Given the description of an element on the screen output the (x, y) to click on. 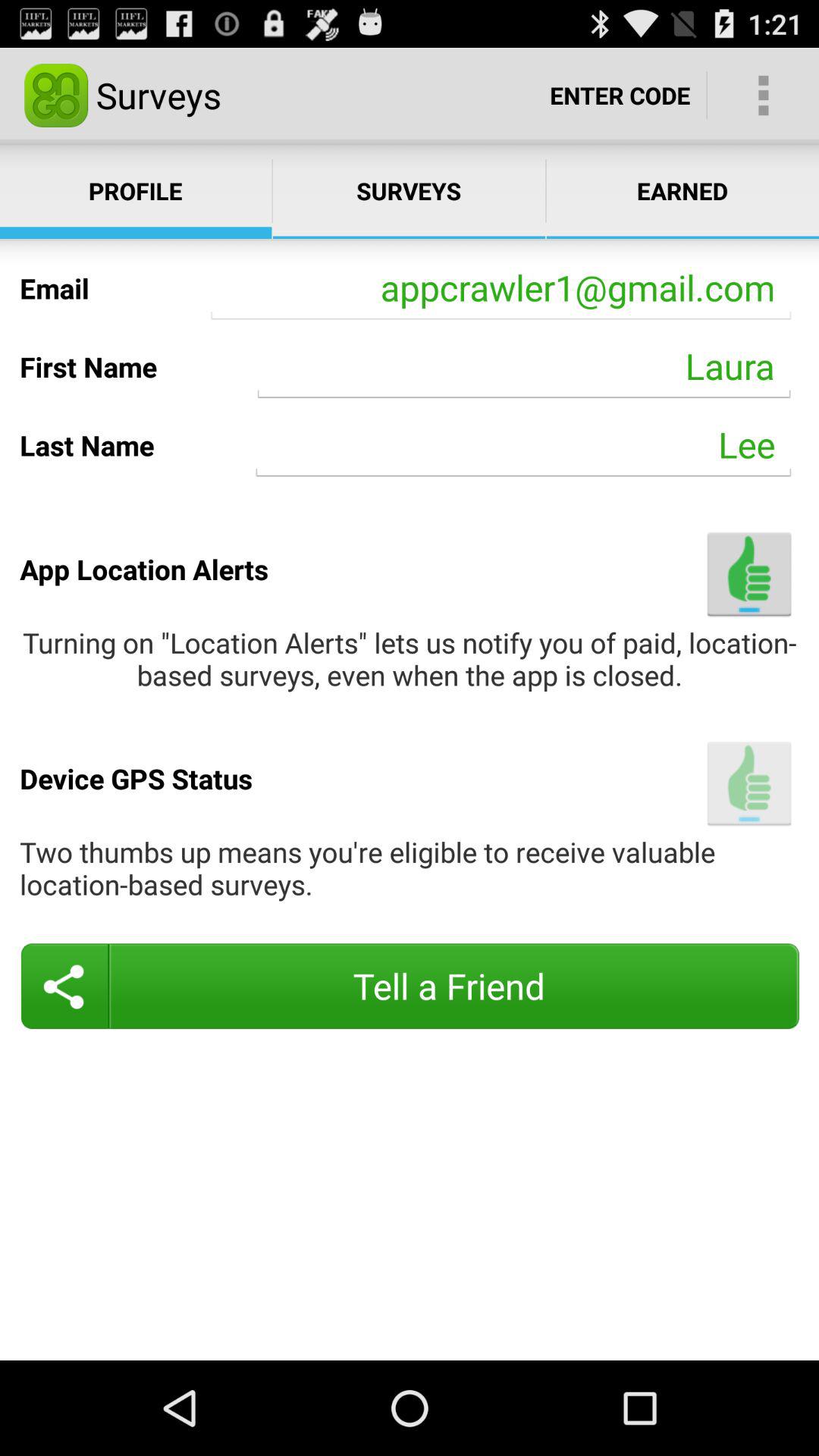
click the item above the two thumbs up (749, 783)
